Given the description of an element on the screen output the (x, y) to click on. 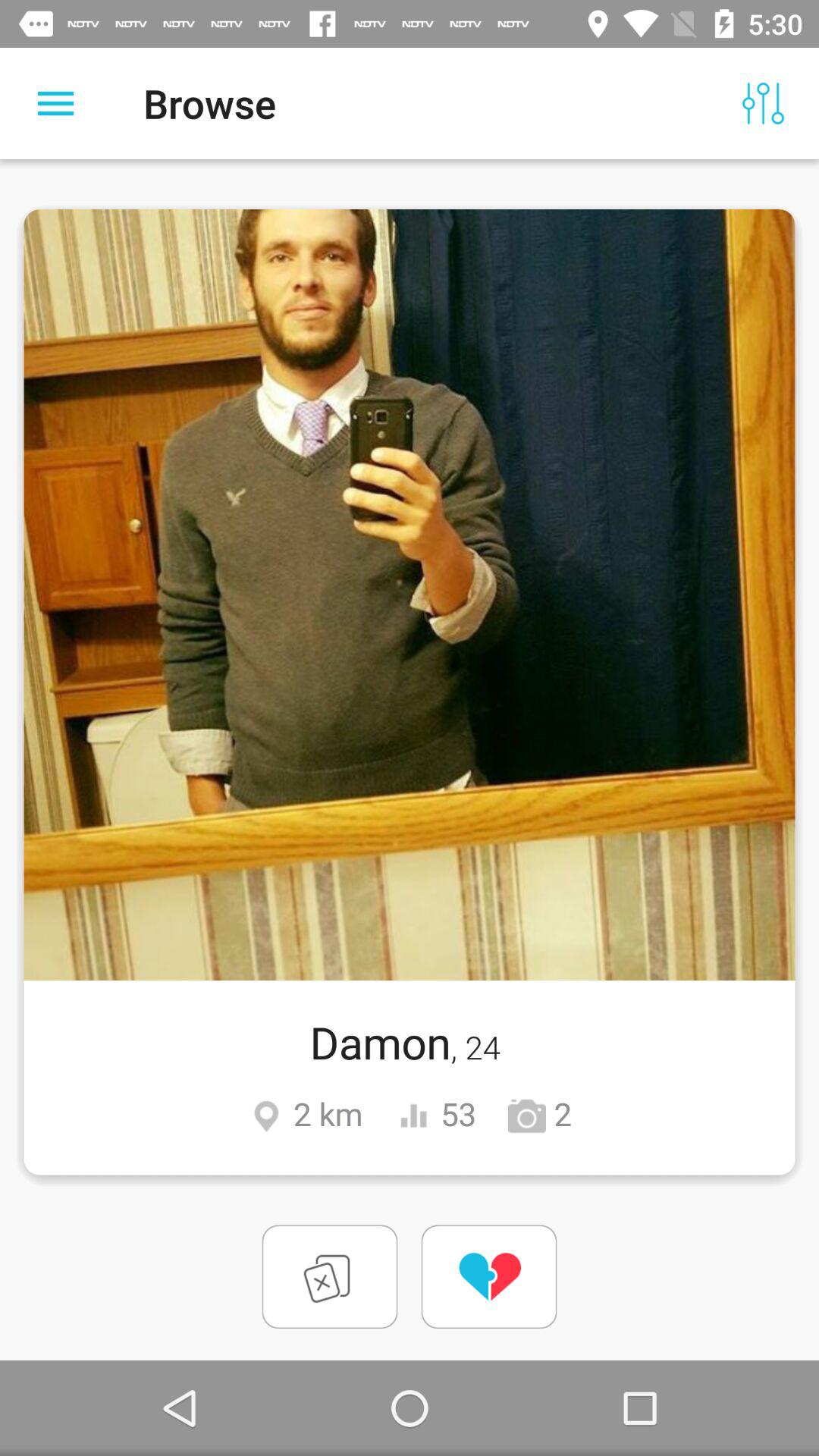
click icon next to the browse item (55, 103)
